Given the description of an element on the screen output the (x, y) to click on. 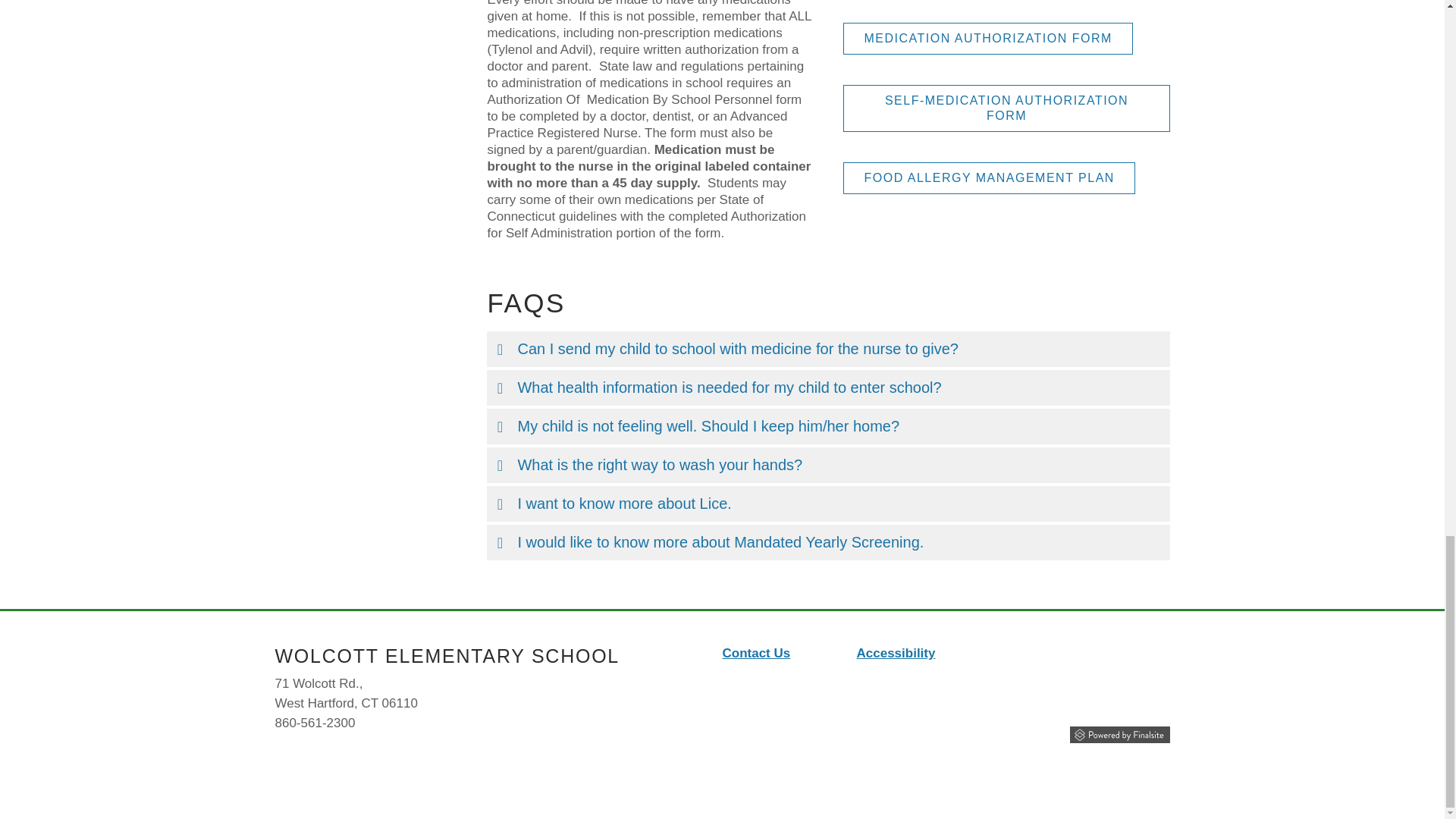
Powered by Finalsite opens in a new window (1118, 734)
